Given the description of an element on the screen output the (x, y) to click on. 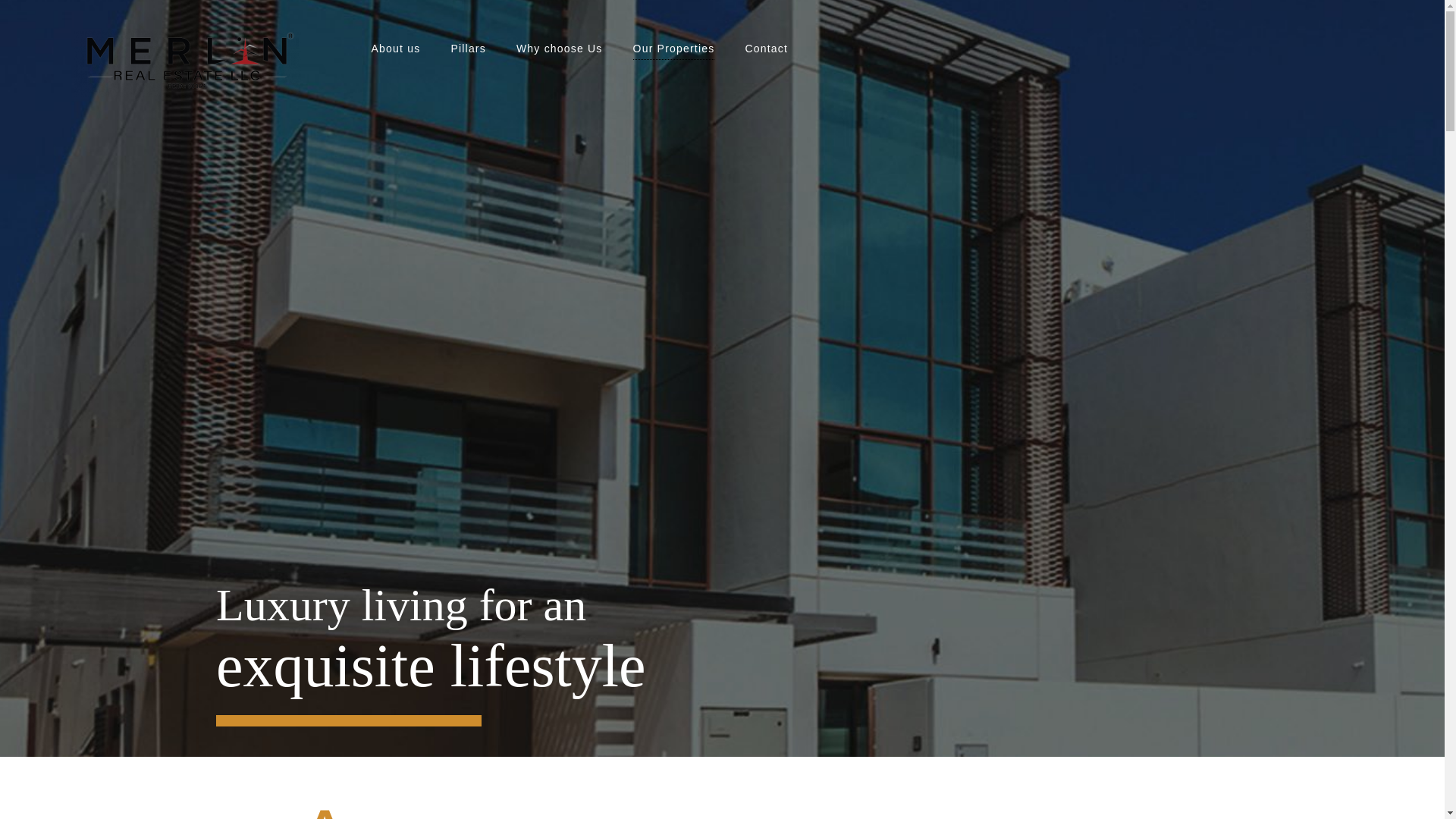
Pillars (467, 47)
Why choose Us (558, 47)
About us (395, 47)
Login (740, 665)
Our Properties (673, 47)
Logo (187, 63)
Contact (766, 47)
